Given the description of an element on the screen output the (x, y) to click on. 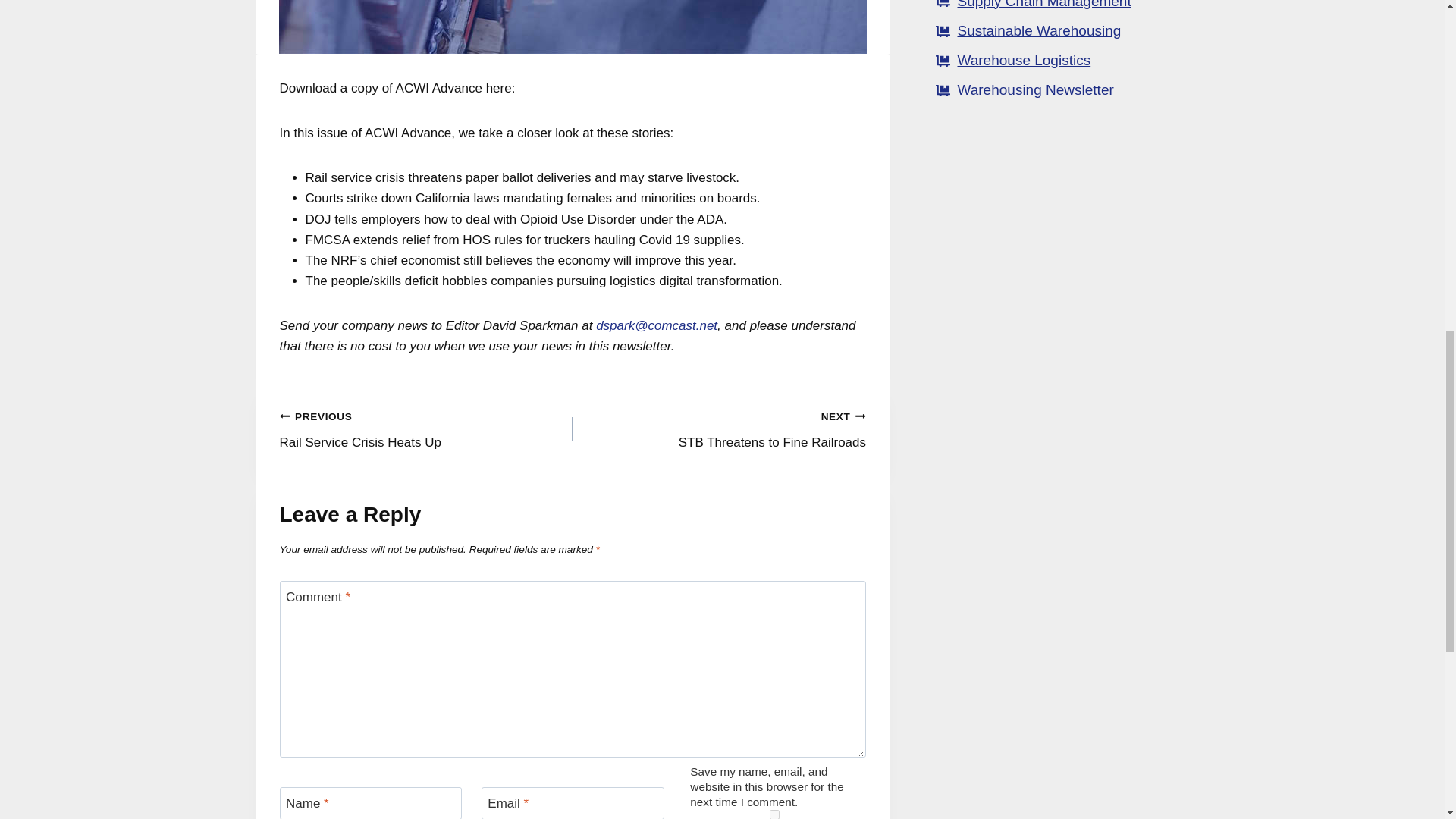
yes (719, 429)
Warehouse Logistics (425, 429)
Sustainable Warehousing (774, 814)
Warehousing Newsletter (1023, 59)
Supply Chain Management (1038, 30)
